Given the description of an element on the screen output the (x, y) to click on. 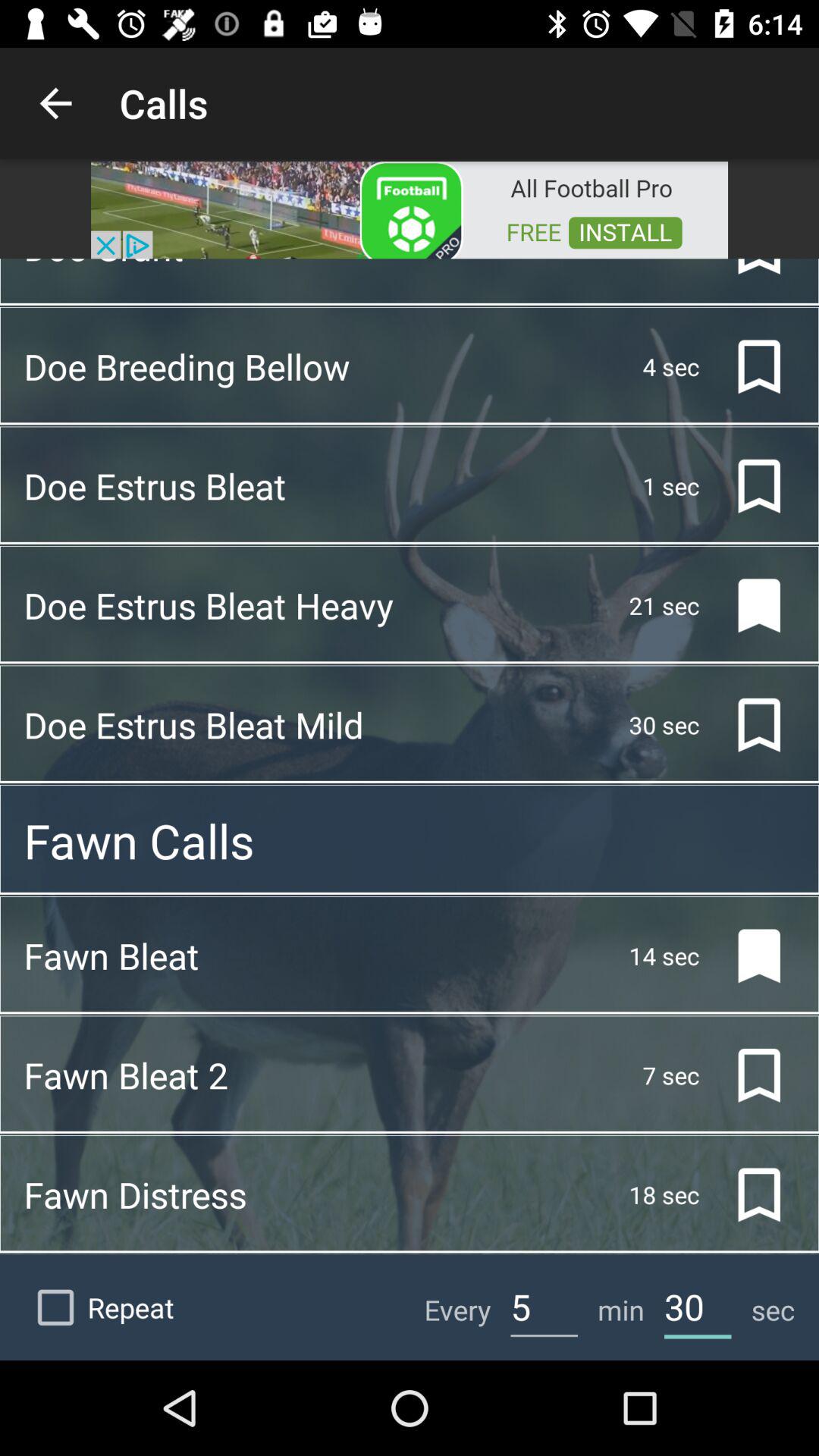
opens advertisement (409, 208)
